Given the description of an element on the screen output the (x, y) to click on. 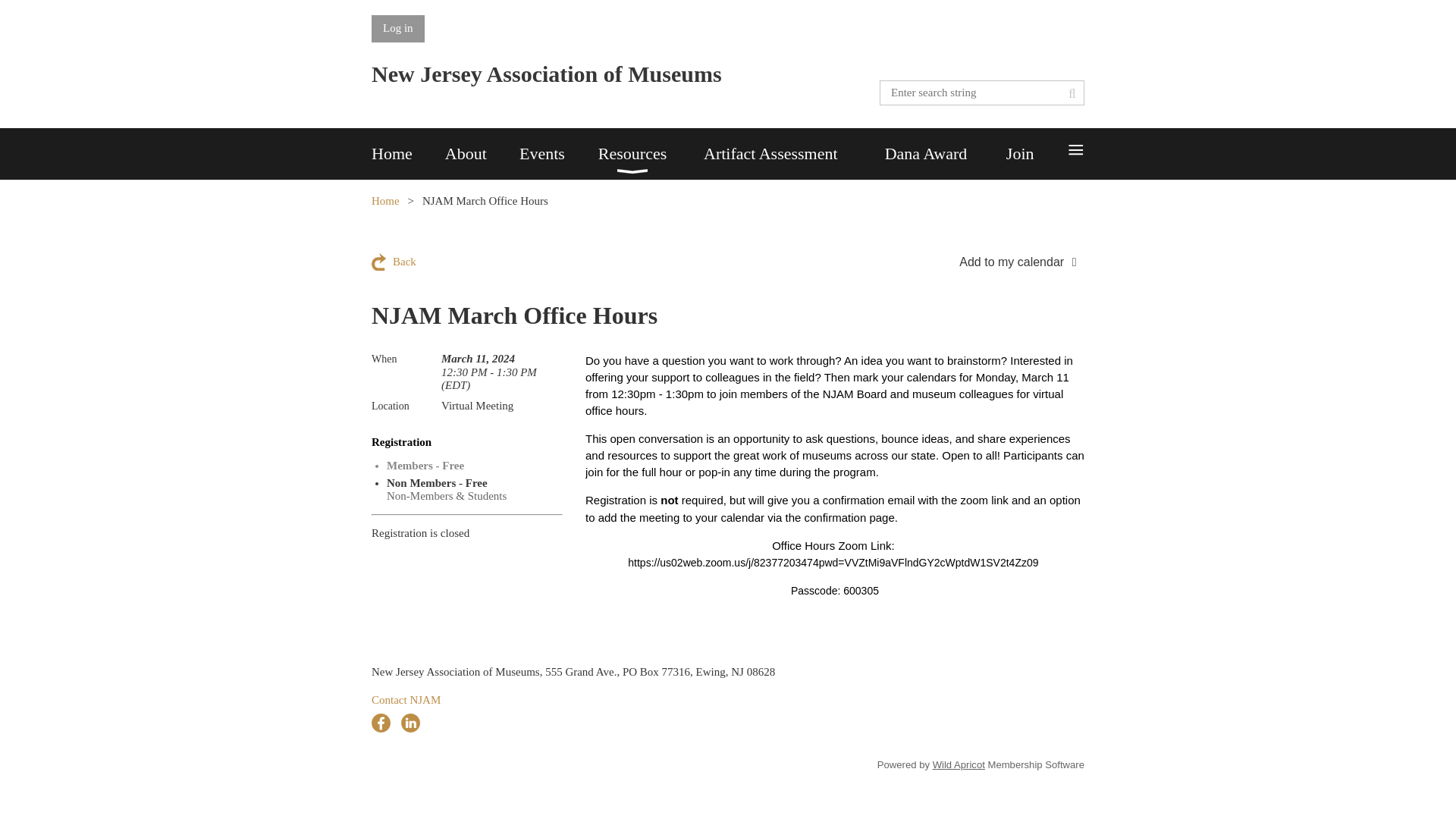
Wild Apricot (959, 764)
Dana Award (945, 153)
Resources (650, 153)
Log in (398, 28)
Artifact Assessment (794, 153)
Home (408, 153)
LinkedIn (410, 722)
Events (558, 153)
Facebook (380, 722)
About (482, 153)
